Given the description of an element on the screen output the (x, y) to click on. 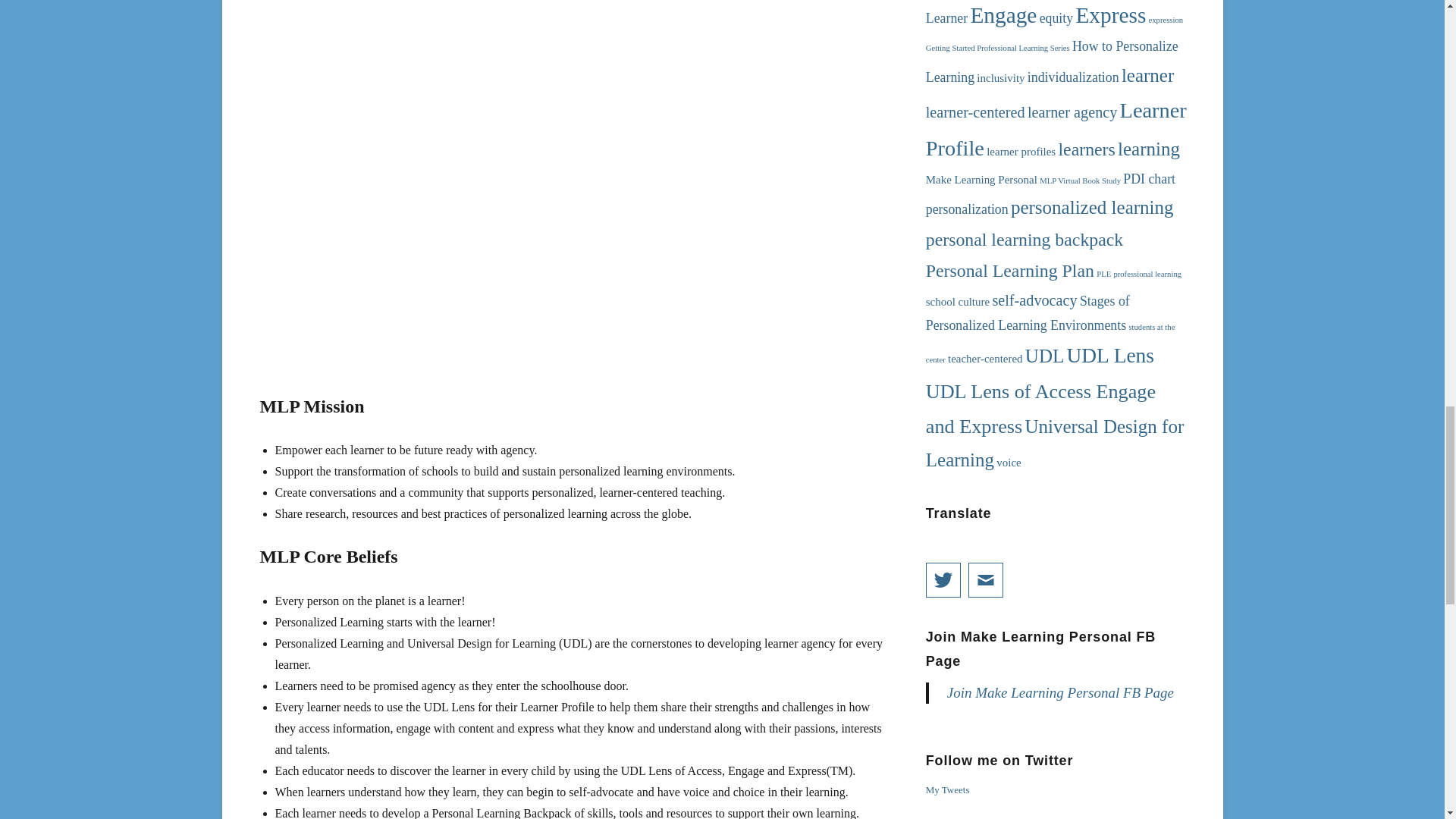
Email (985, 579)
Twitter (943, 579)
